Given the description of an element on the screen output the (x, y) to click on. 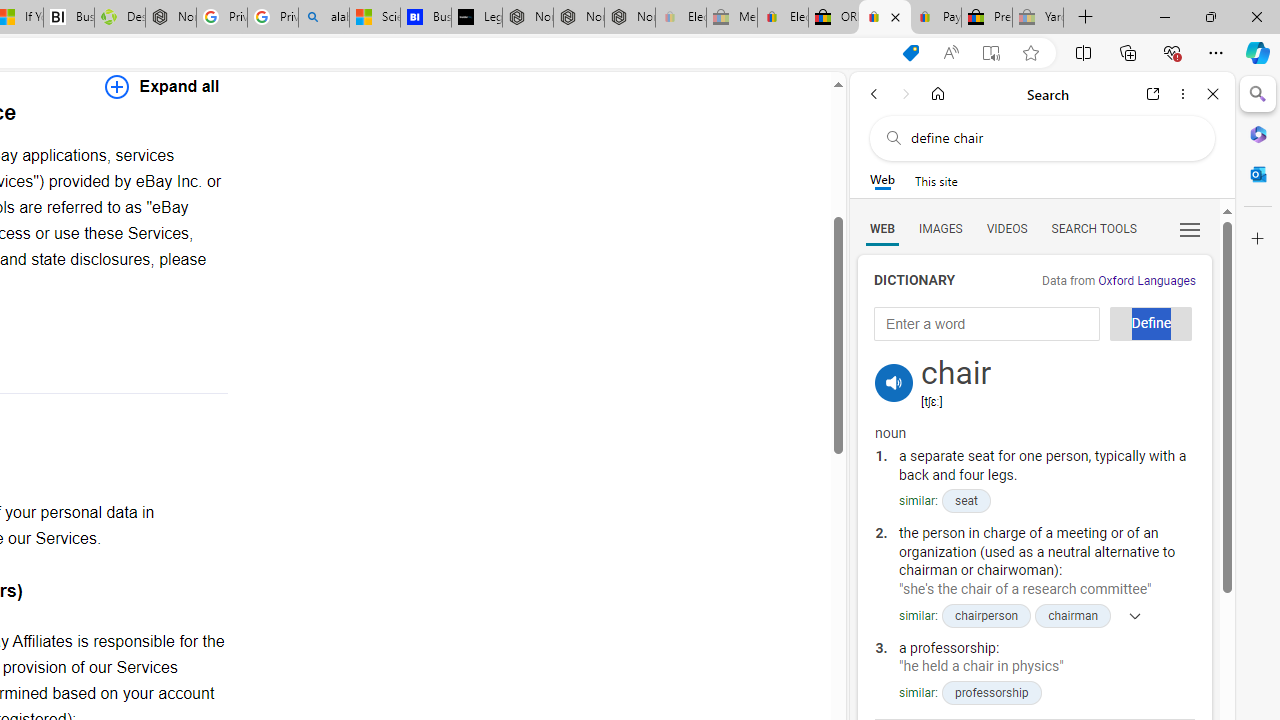
seat (965, 501)
chairman (1073, 615)
